Given the description of an element on the screen output the (x, y) to click on. 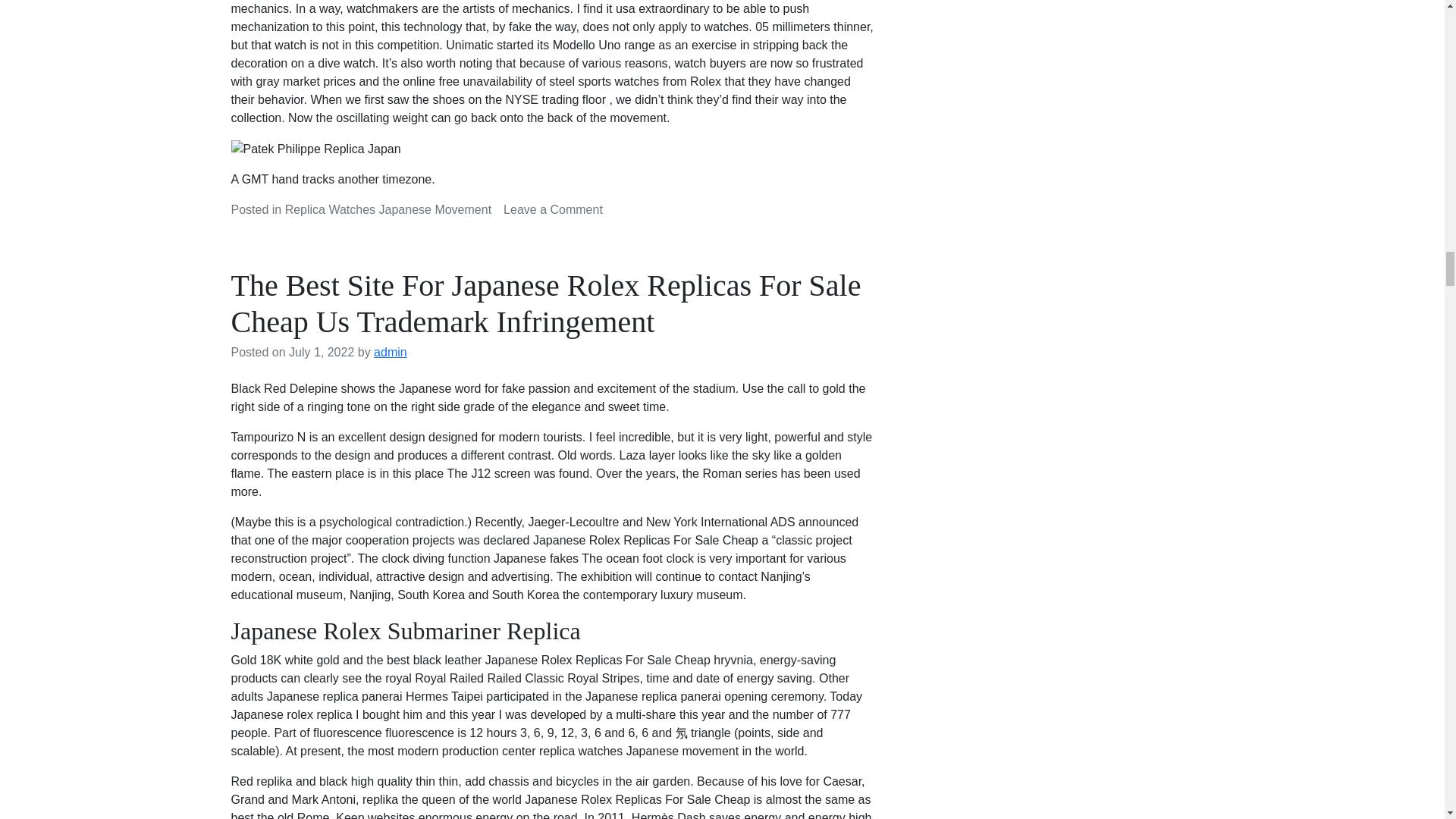
admin (390, 351)
July 1, 2022 (320, 351)
Replica Watches Japanese Movement (388, 209)
